Given the description of an element on the screen output the (x, y) to click on. 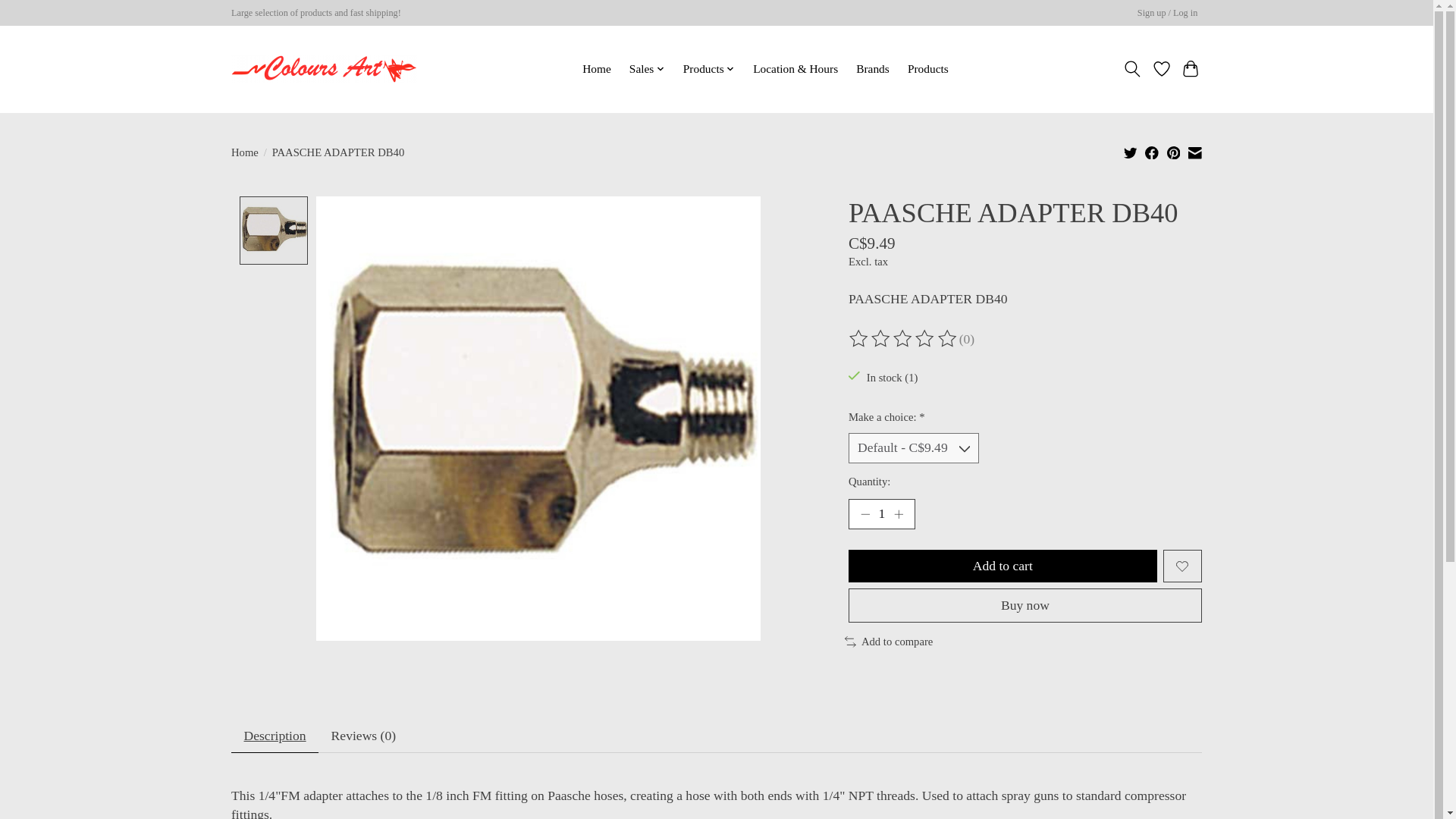
Share on Pinterest (1173, 151)
Colours Artist Supplies (323, 69)
Share on Twitter (1130, 151)
Share on Facebook (1151, 151)
1 (881, 513)
Products (709, 68)
My account (1167, 13)
Home (595, 68)
Share by Email (1194, 151)
Sales (646, 68)
